Given the description of an element on the screen output the (x, y) to click on. 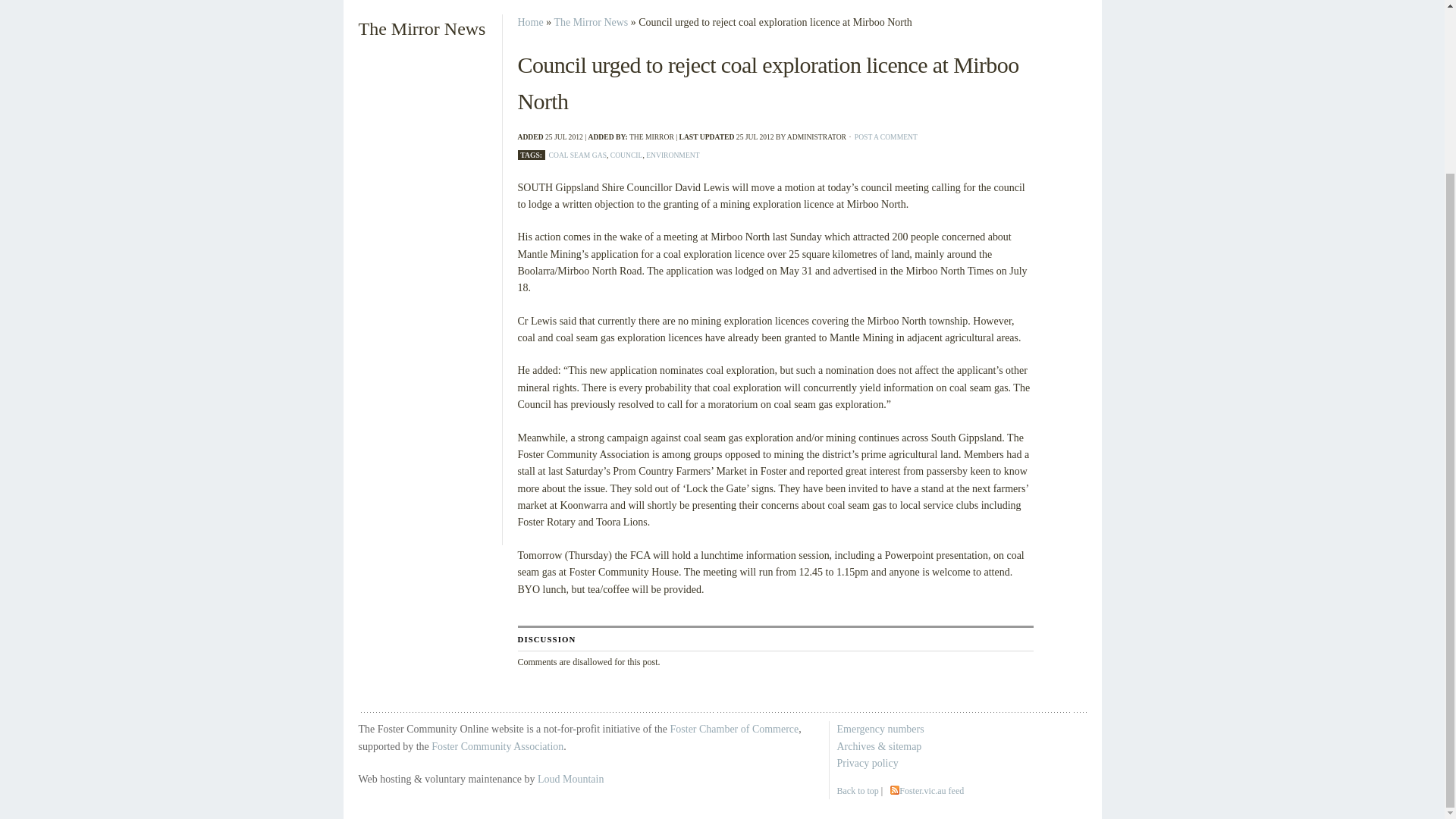
Loud Mountain web design and business web hosting, Gippsland (570, 778)
Foster Chamber of Commerce (734, 728)
Back to top (858, 790)
Foster Community Association (496, 746)
